Given the description of an element on the screen output the (x, y) to click on. 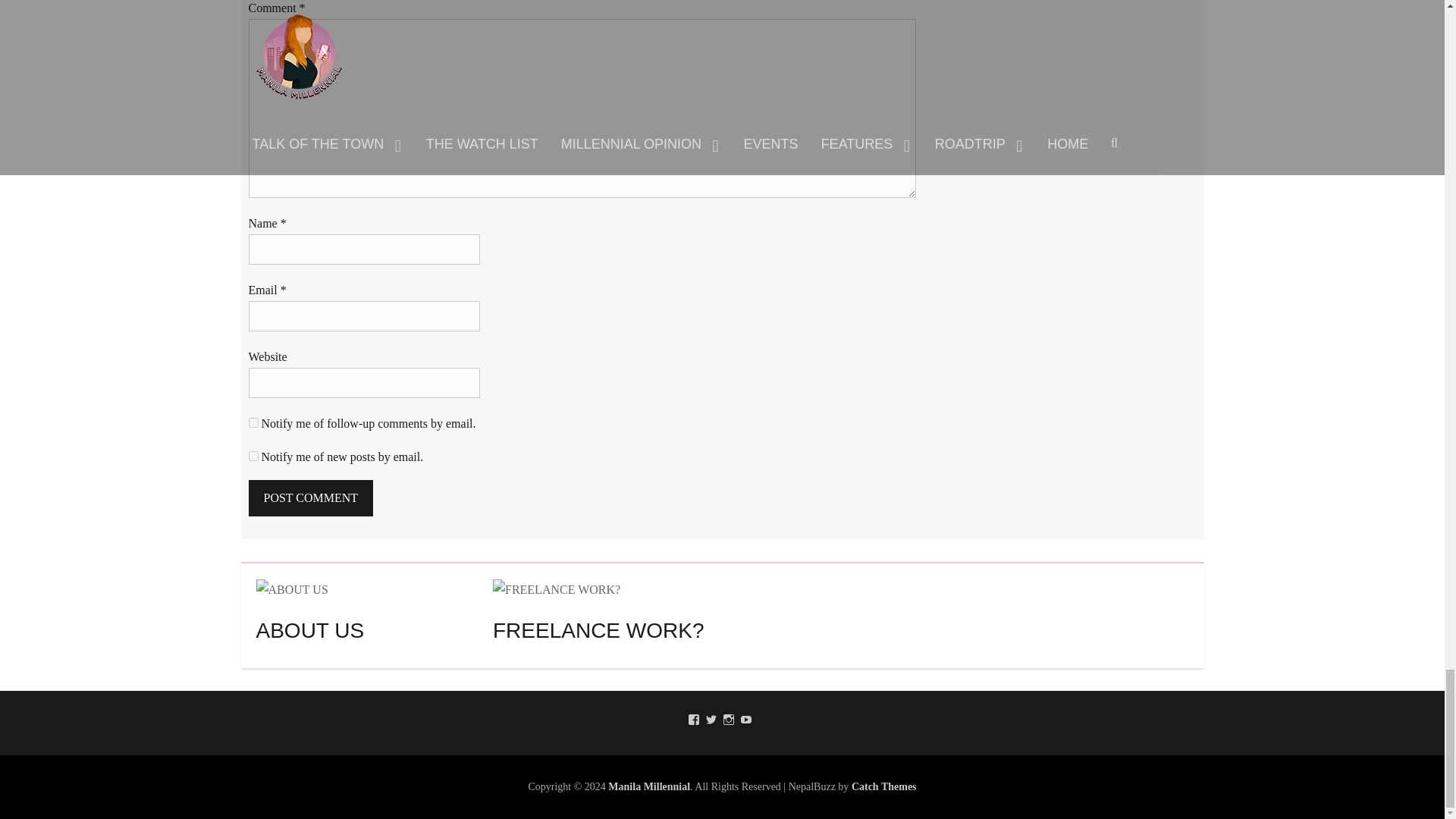
FREELANCE WORK? (556, 589)
Post Comment (311, 497)
subscribe (253, 456)
FREELANCE WORK? (556, 588)
ABOUT US (292, 588)
ABOUT US (292, 589)
subscribe (253, 422)
